Given the description of an element on the screen output the (x, y) to click on. 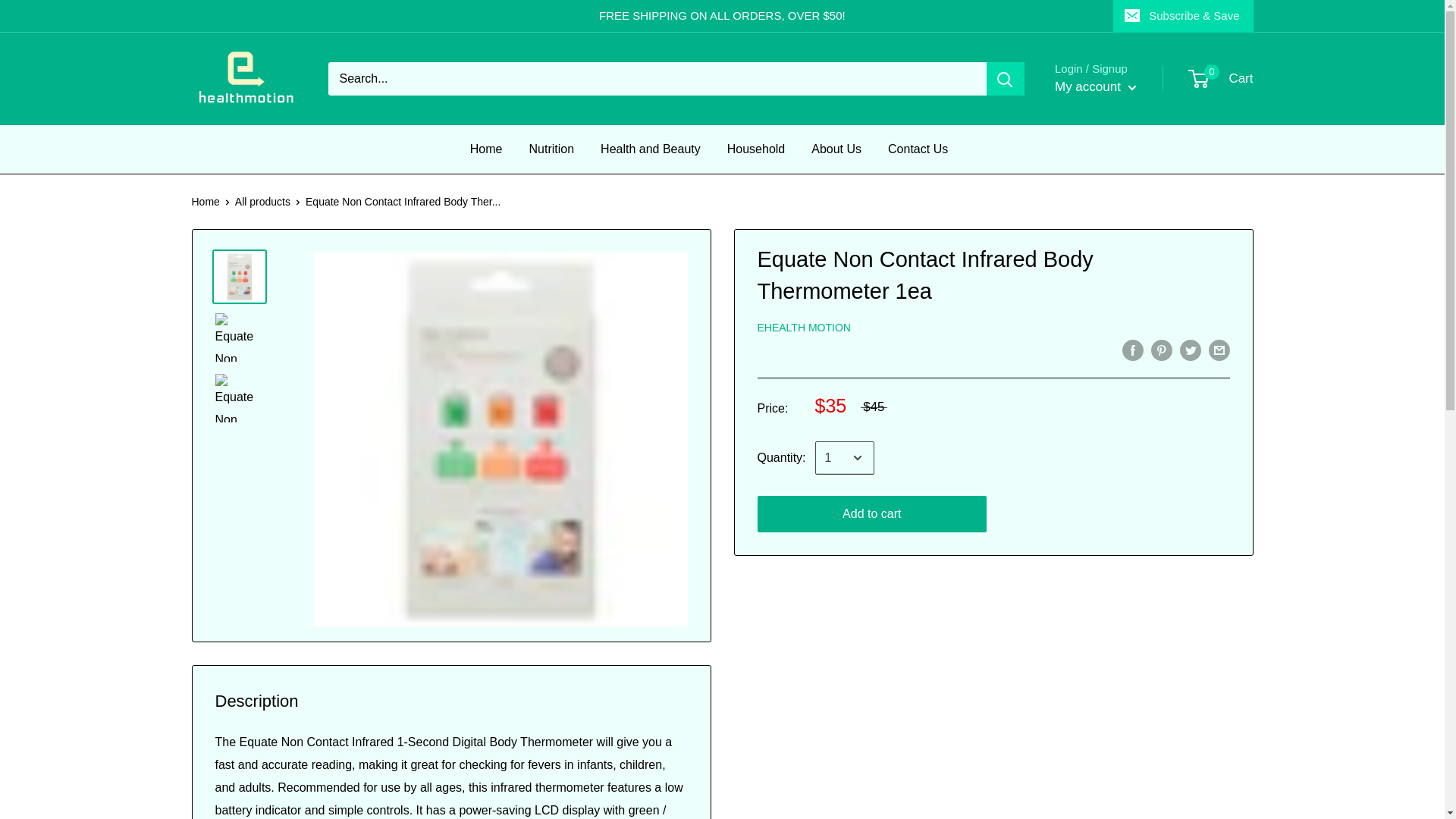
My account (1221, 78)
Household (1095, 87)
Contact Us (756, 149)
Health and Beauty (917, 149)
Nutrition (649, 149)
About Us (552, 149)
Home (835, 149)
